Given the description of an element on the screen output the (x, y) to click on. 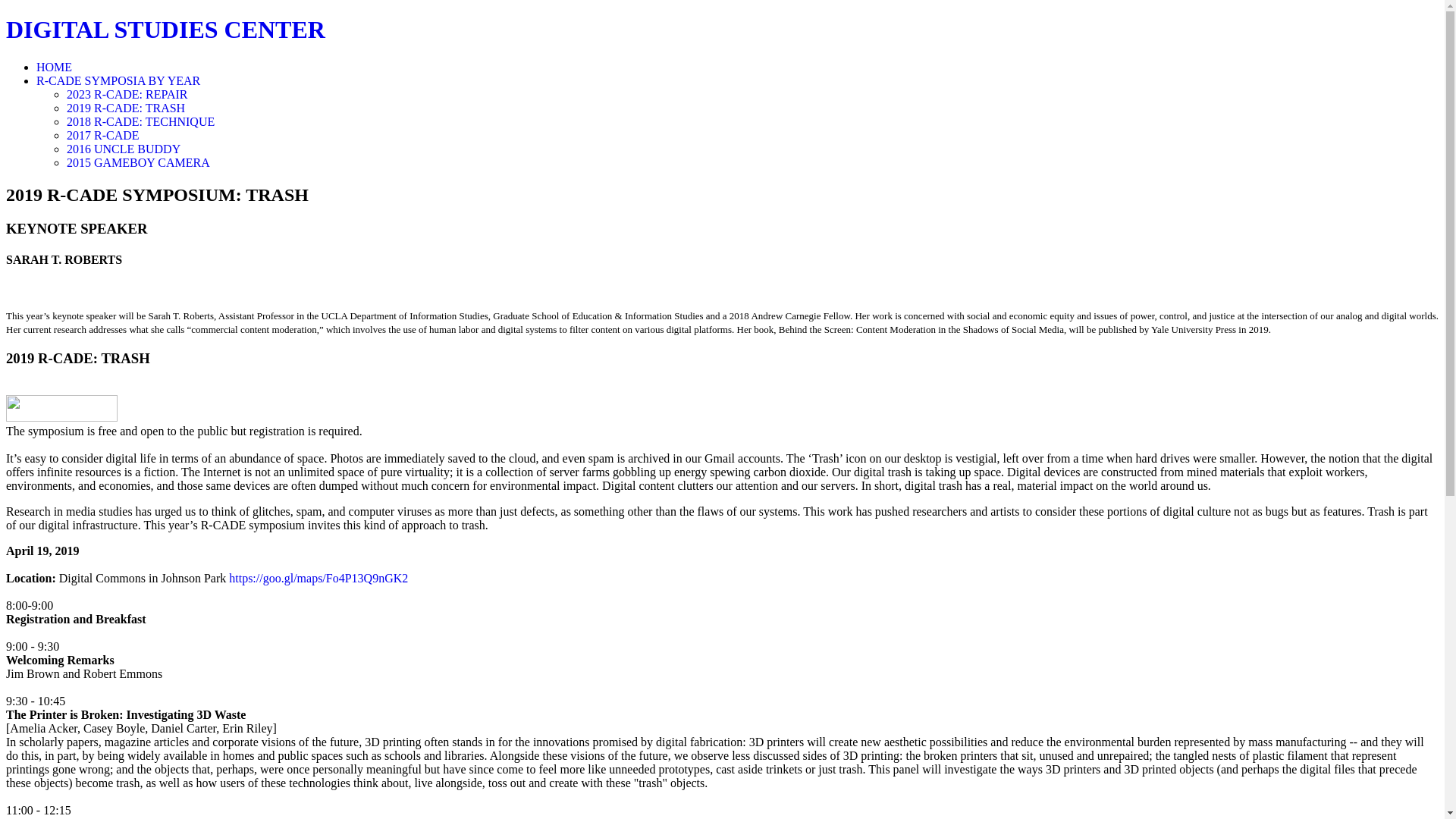
2019 R-CADE: TRASH (125, 107)
2017 R-CADE (102, 134)
HOME (53, 66)
2016 UNCLE BUDDY (123, 148)
2015 GAMEBOY CAMERA (137, 162)
2023 R-CADE: REPAIR (126, 93)
DIGITAL STUDIES CENTER (164, 29)
2018 R-CADE: TECHNIQUE (140, 121)
R-CADE SYMPOSIA BY YEAR (118, 80)
